Given the description of an element on the screen output the (x, y) to click on. 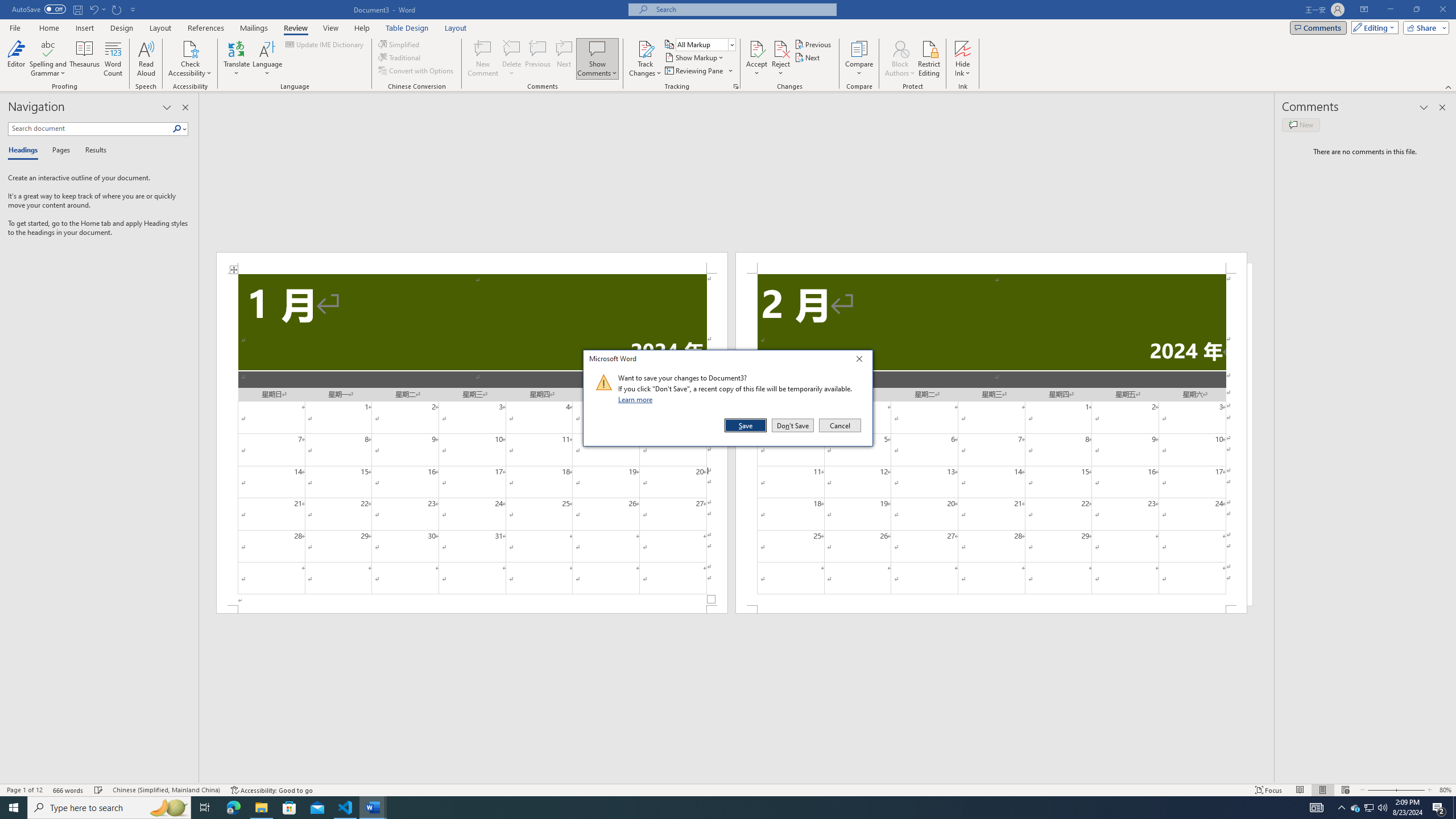
Delete (511, 48)
Convert with Options... (417, 69)
Microsoft Store (289, 807)
Learn more (636, 399)
Don't Save (792, 425)
Header -Section 1- (471, 263)
Reviewing Pane (694, 69)
Undo Increase Indent (92, 9)
Block Authors (900, 58)
Footer -Section 1- (471, 609)
Simplified (400, 44)
